Given the description of an element on the screen output the (x, y) to click on. 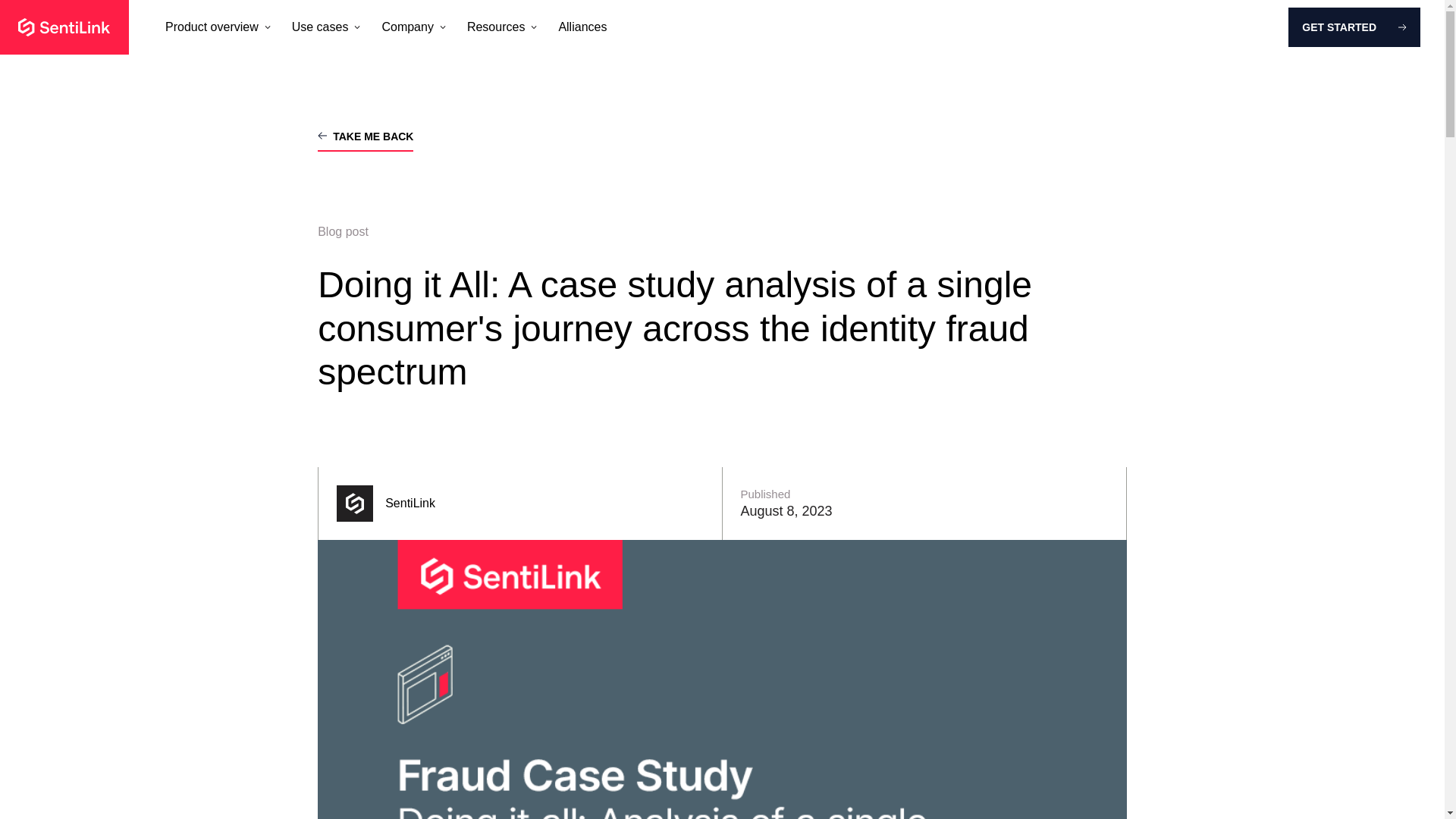
GET STARTED (1354, 26)
Alliances (582, 27)
